Given the description of an element on the screen output the (x, y) to click on. 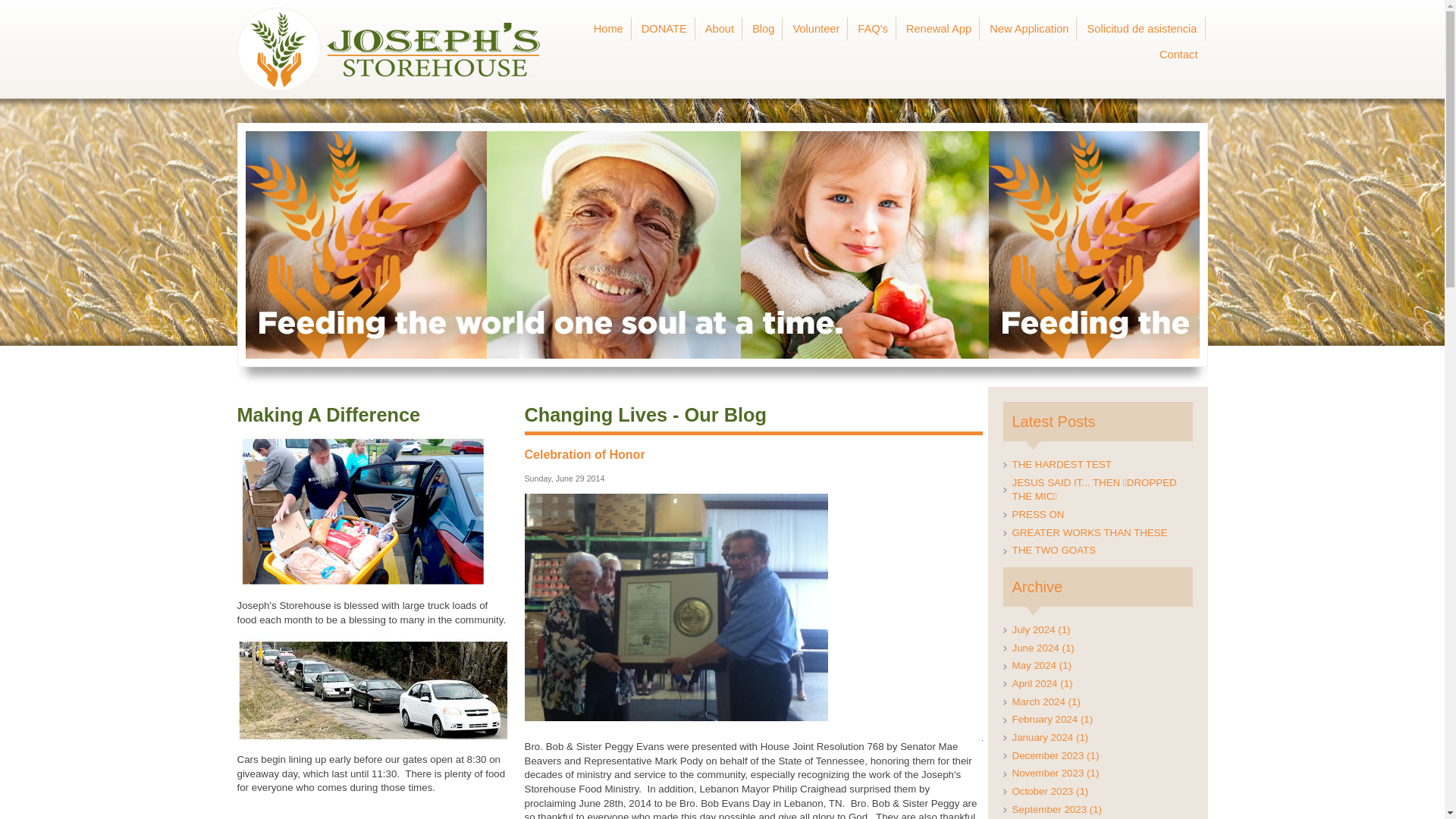
Celebration of Honor (584, 454)
Solicitud de asistencia (1142, 28)
THE TWO GOATS (1097, 550)
Making A Difference (327, 414)
FAQ's (873, 28)
Volunteer (816, 28)
DONATE (664, 28)
Blog (764, 28)
GREATER WORKS THAN THESE (1097, 533)
Contact (1179, 54)
Home (609, 28)
About (720, 28)
THE HARDEST TEST (1097, 464)
New Application (1030, 28)
PRESS ON (1097, 514)
